Given the description of an element on the screen output the (x, y) to click on. 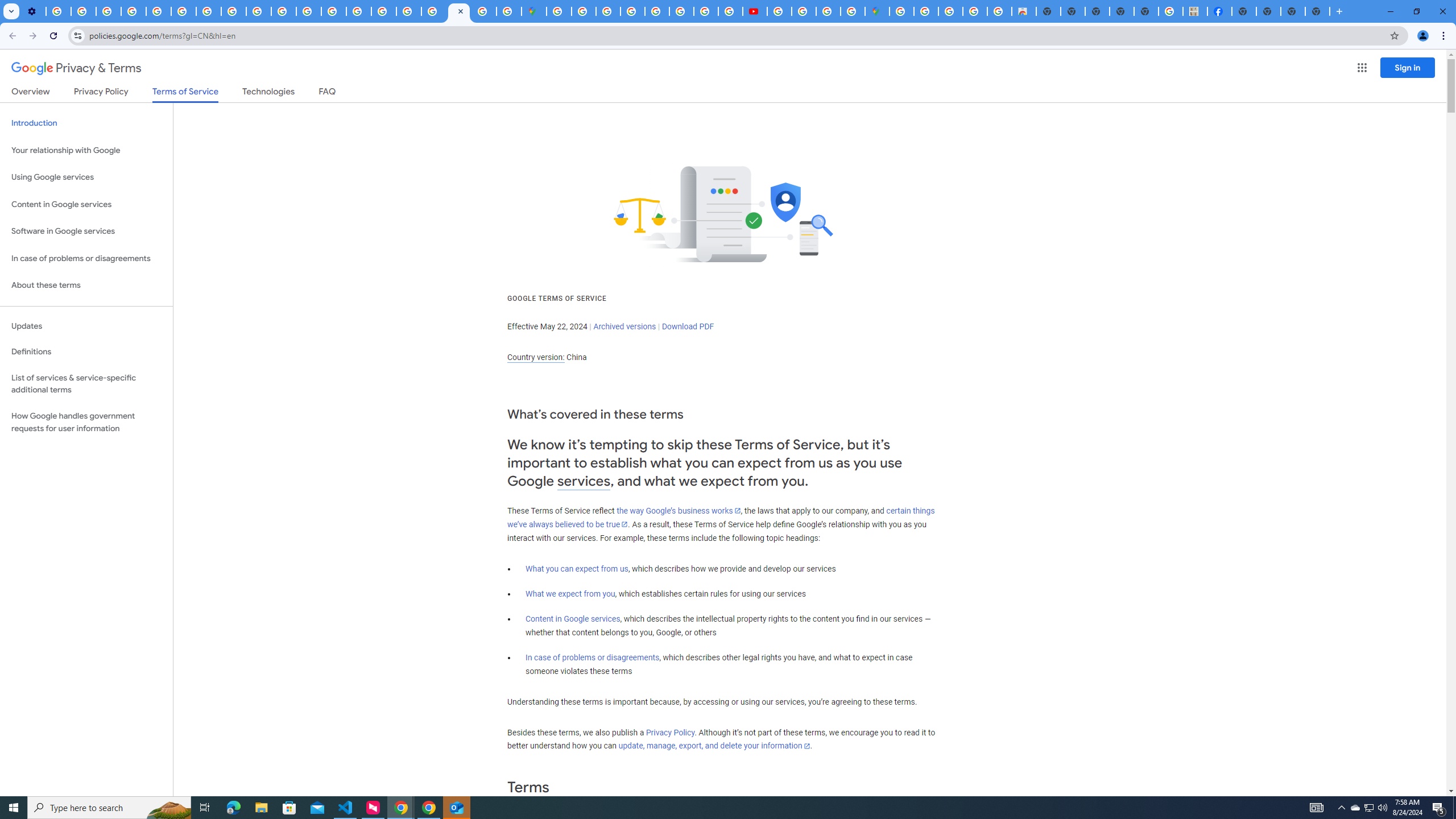
Privacy Help Center - Policies Help (332, 11)
Definitions (86, 352)
Subscriptions - YouTube (754, 11)
Sign in - Google Accounts (583, 11)
List of services & service-specific additional terms (86, 383)
Google Account Help (133, 11)
